Given the description of an element on the screen output the (x, y) to click on. 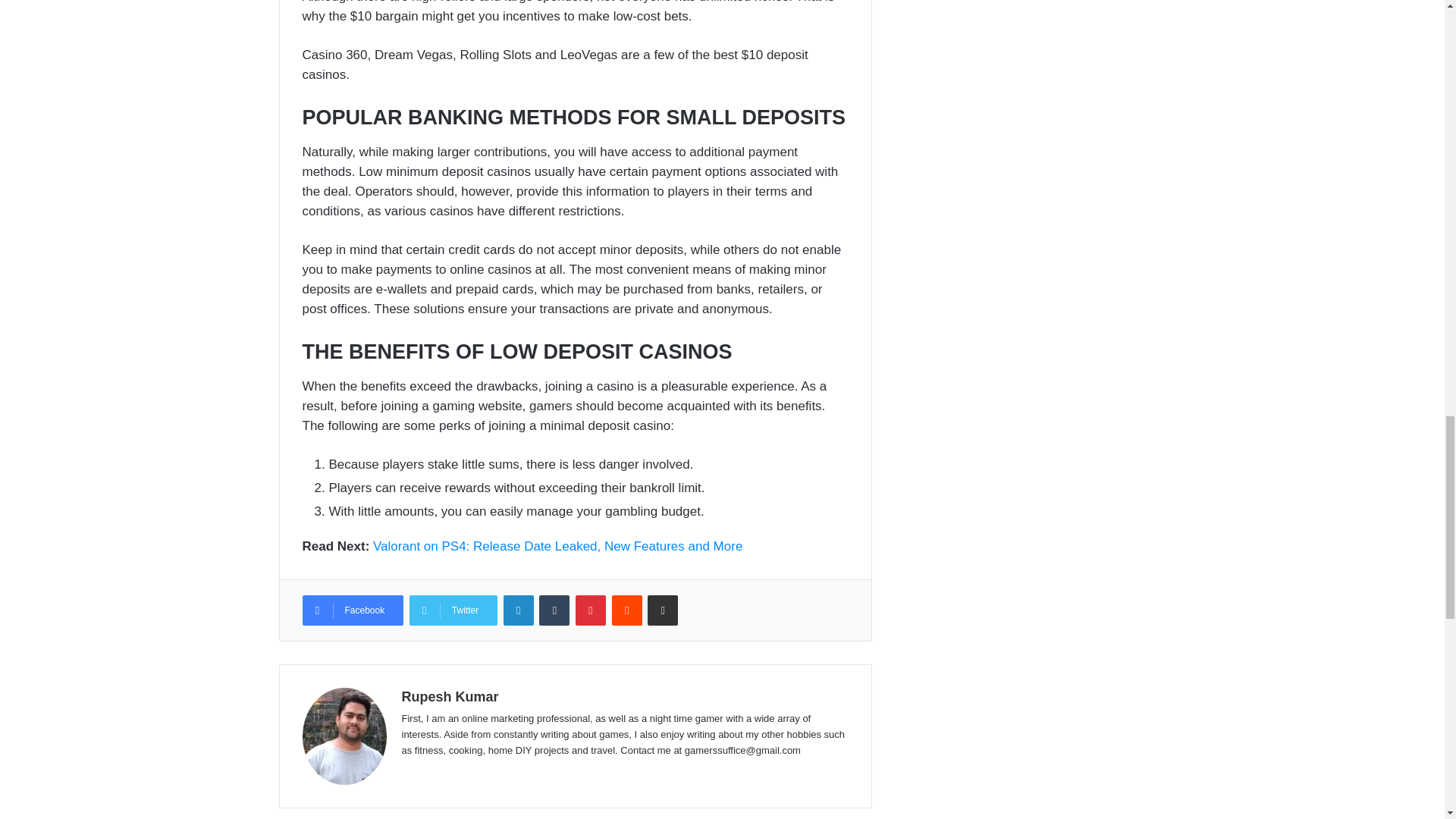
Twitter (453, 610)
Pinterest (590, 610)
Facebook (352, 610)
Valorant on PS4: Release Date Leaked, New Features and More (557, 545)
Facebook (352, 610)
LinkedIn (518, 610)
Tumblr (553, 610)
Twitter (453, 610)
